Given the description of an element on the screen output the (x, y) to click on. 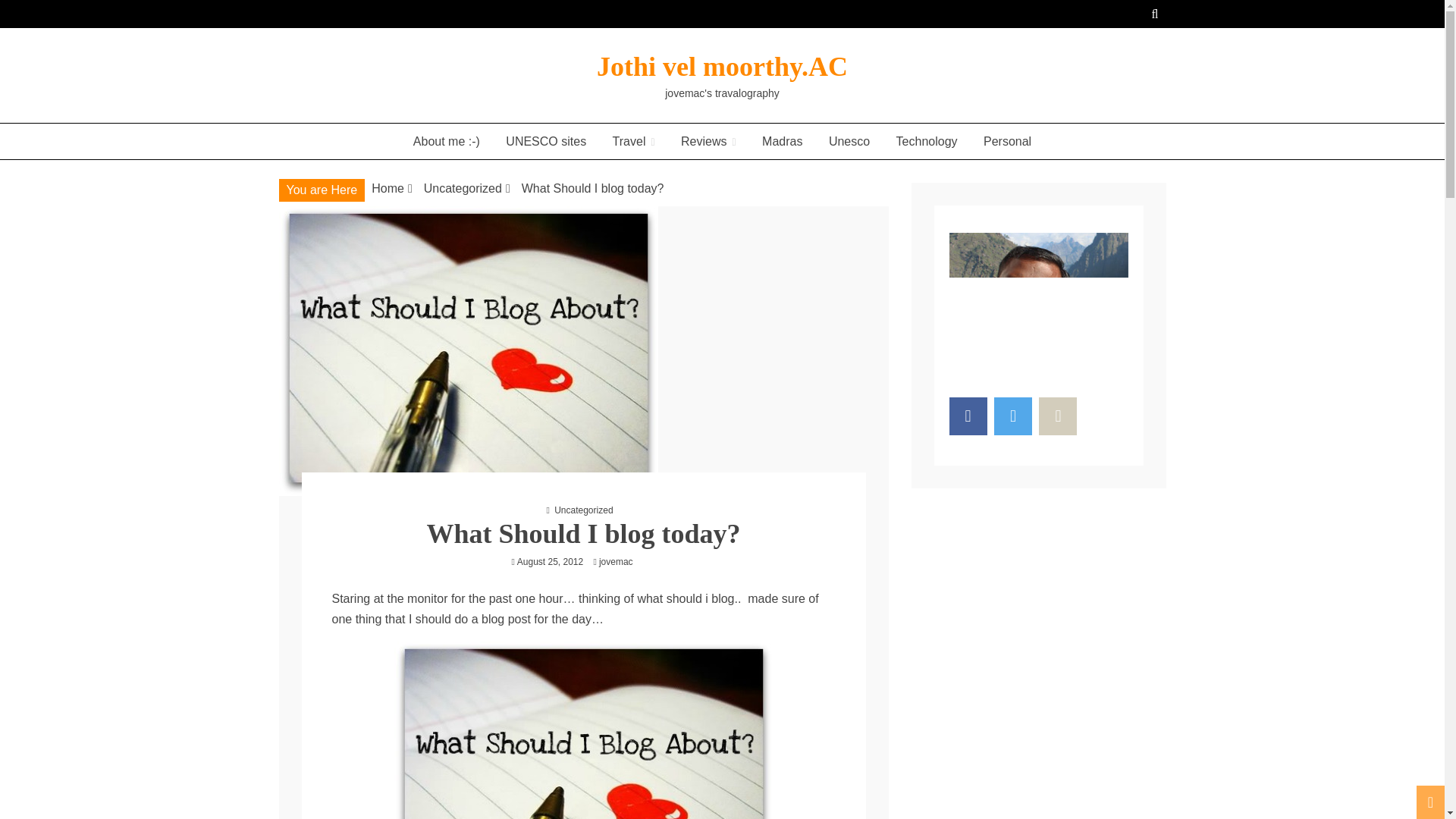
Unesco (848, 140)
Uncategorized (462, 187)
Uncategorized (583, 510)
Technology (927, 140)
Jothi vel moorthy.AC (721, 66)
Madras (782, 140)
UNESCO sites (545, 140)
Travel (633, 140)
Home (387, 187)
August 25, 2012 (549, 561)
